Given the description of an element on the screen output the (x, y) to click on. 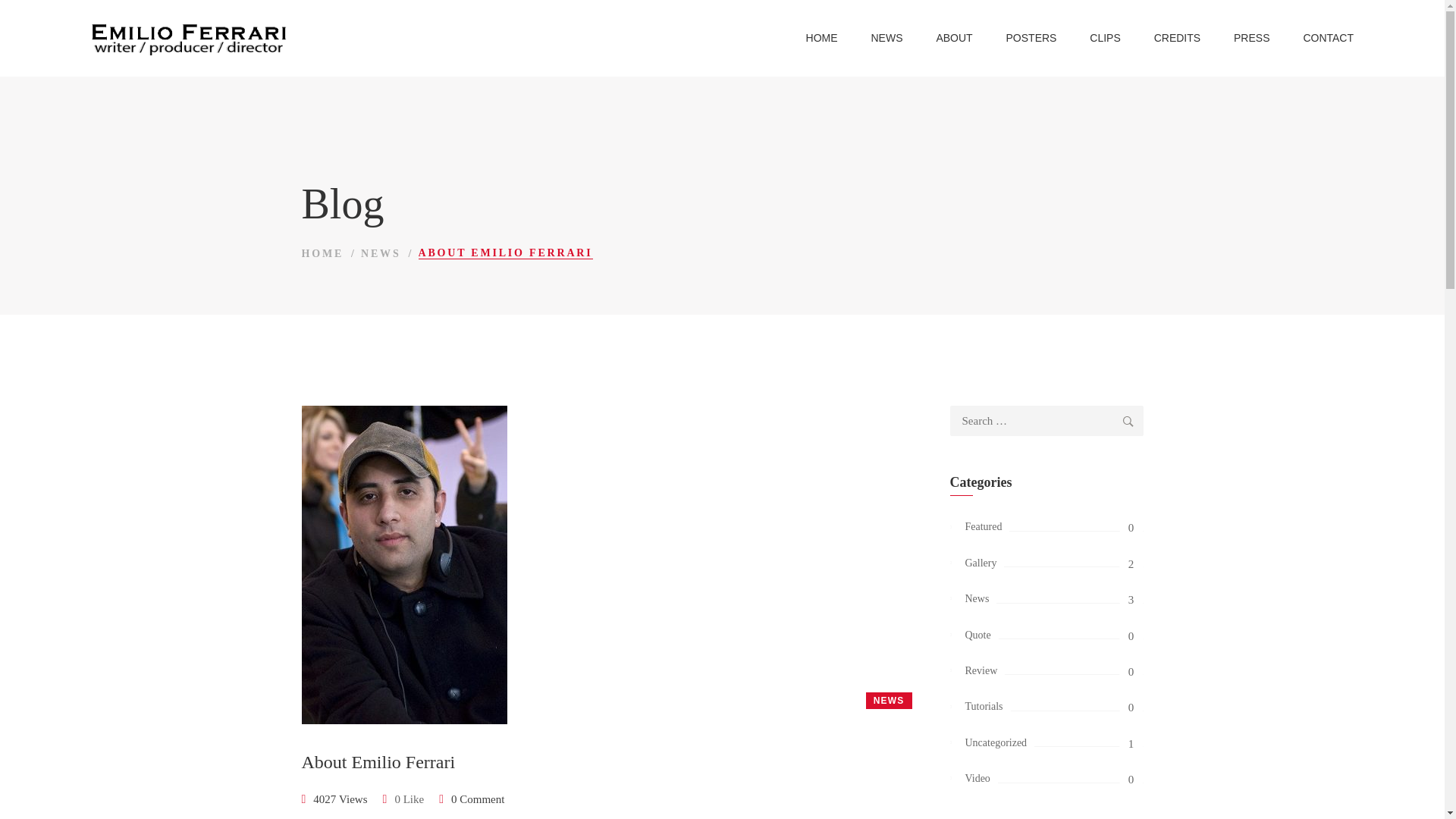
Review (1045, 670)
HOME (322, 253)
NEWS (889, 700)
NEWS (380, 253)
Quote (1045, 635)
Search (1127, 420)
News (1045, 598)
CREDITS (1176, 38)
POSTERS (1031, 38)
Gallery (1045, 563)
CONTACT (1327, 38)
Like (403, 799)
0 Like (403, 799)
EMILIO (212, 37)
Search (1127, 420)
